Given the description of an element on the screen output the (x, y) to click on. 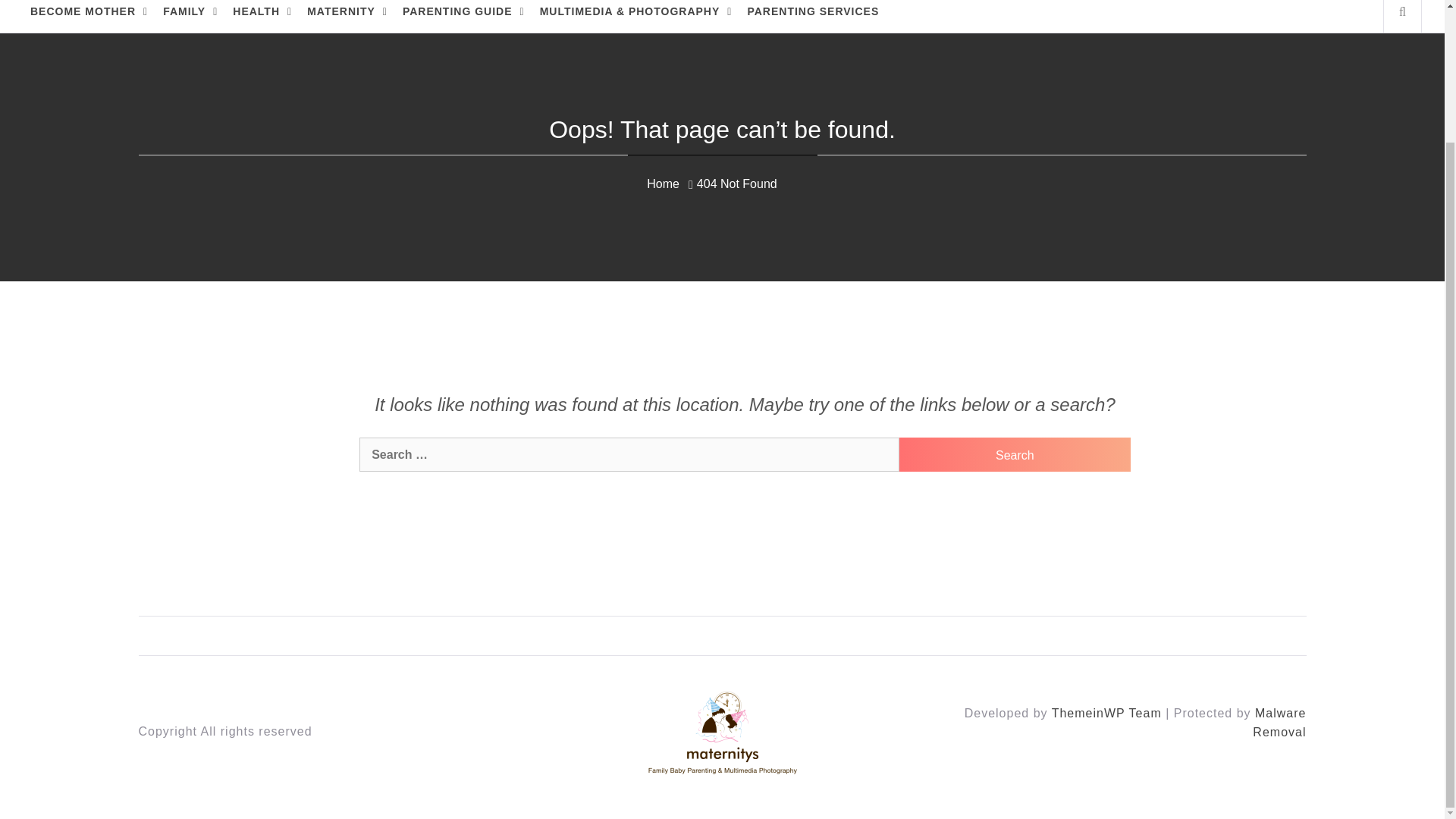
Search (1015, 454)
Search (1015, 454)
PARENTING GUIDE (463, 16)
HEALTH (262, 16)
FAMILY (190, 16)
MATERNITY (346, 16)
BECOME MOTHER (89, 16)
